Given the description of an element on the screen output the (x, y) to click on. 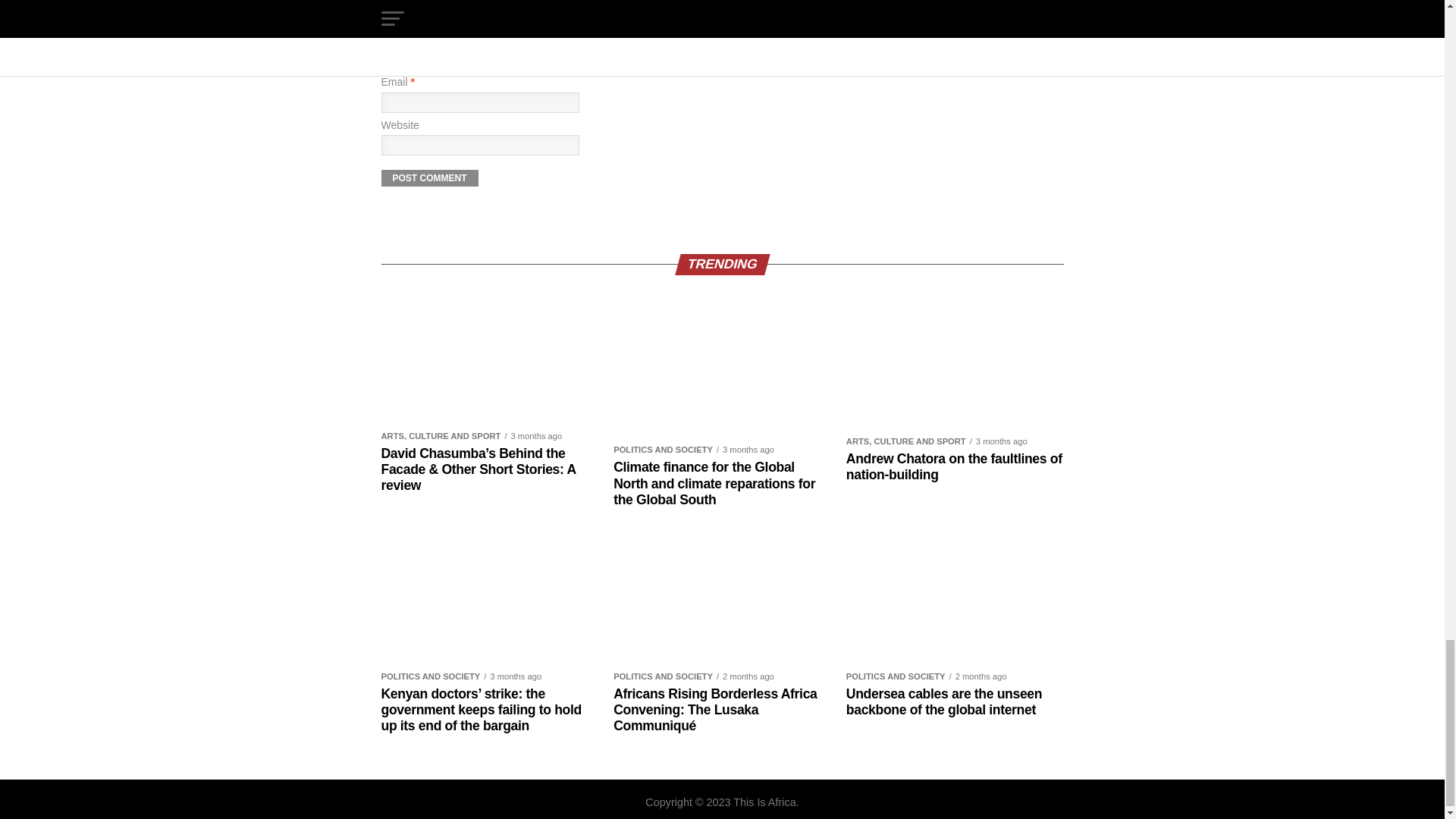
Post Comment (428, 177)
Post Comment (428, 177)
